Given the description of an element on the screen output the (x, y) to click on. 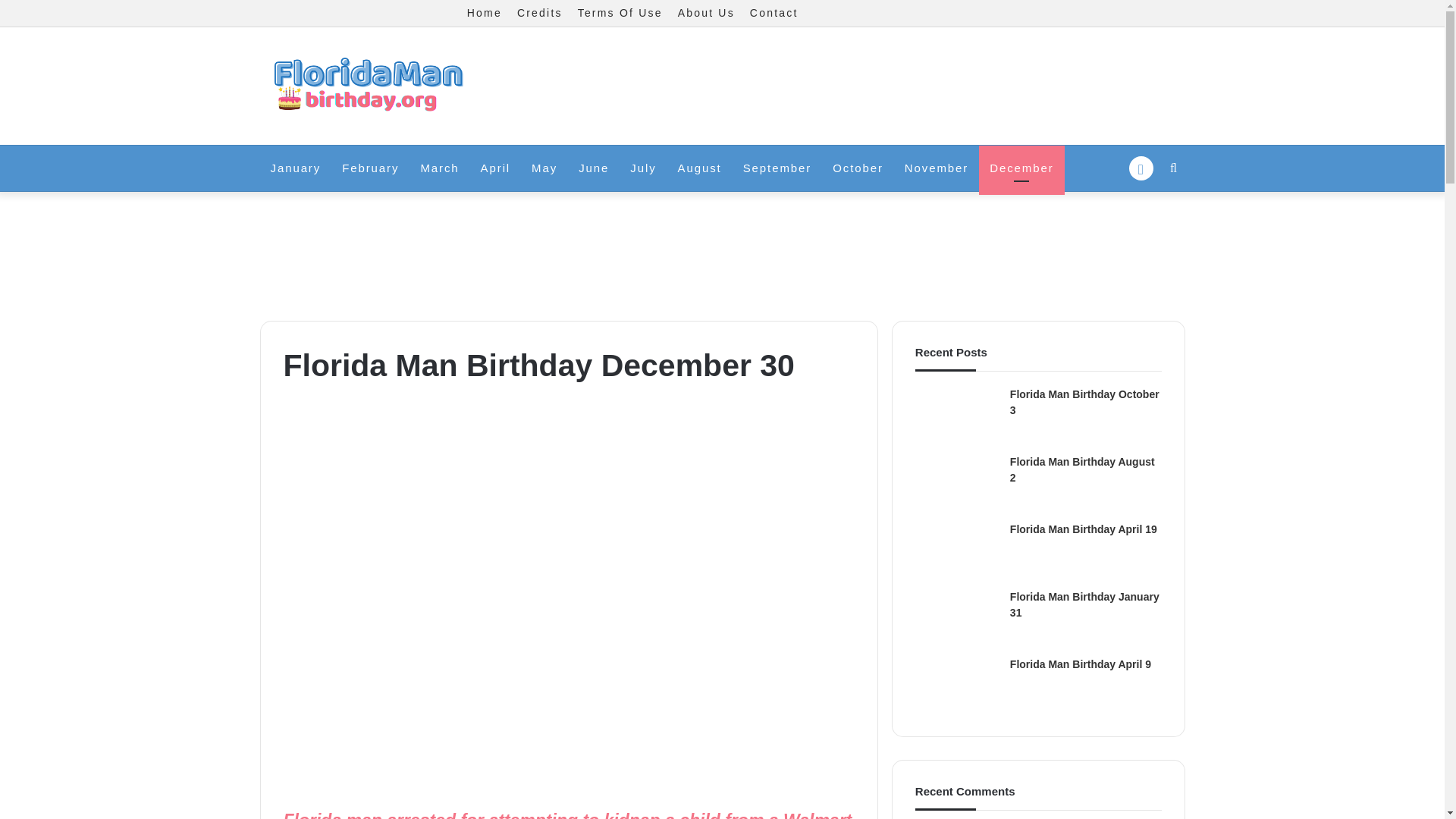
Florida Man Birthday (365, 85)
Credits (539, 13)
September (777, 167)
November (935, 167)
February (370, 167)
January (295, 167)
December (1021, 167)
June (593, 167)
March (438, 167)
Florida Man Birthday October 3 (1084, 402)
Home (484, 13)
Contact (774, 13)
October (857, 167)
May (544, 167)
Terms Of Use (619, 13)
